Given the description of an element on the screen output the (x, y) to click on. 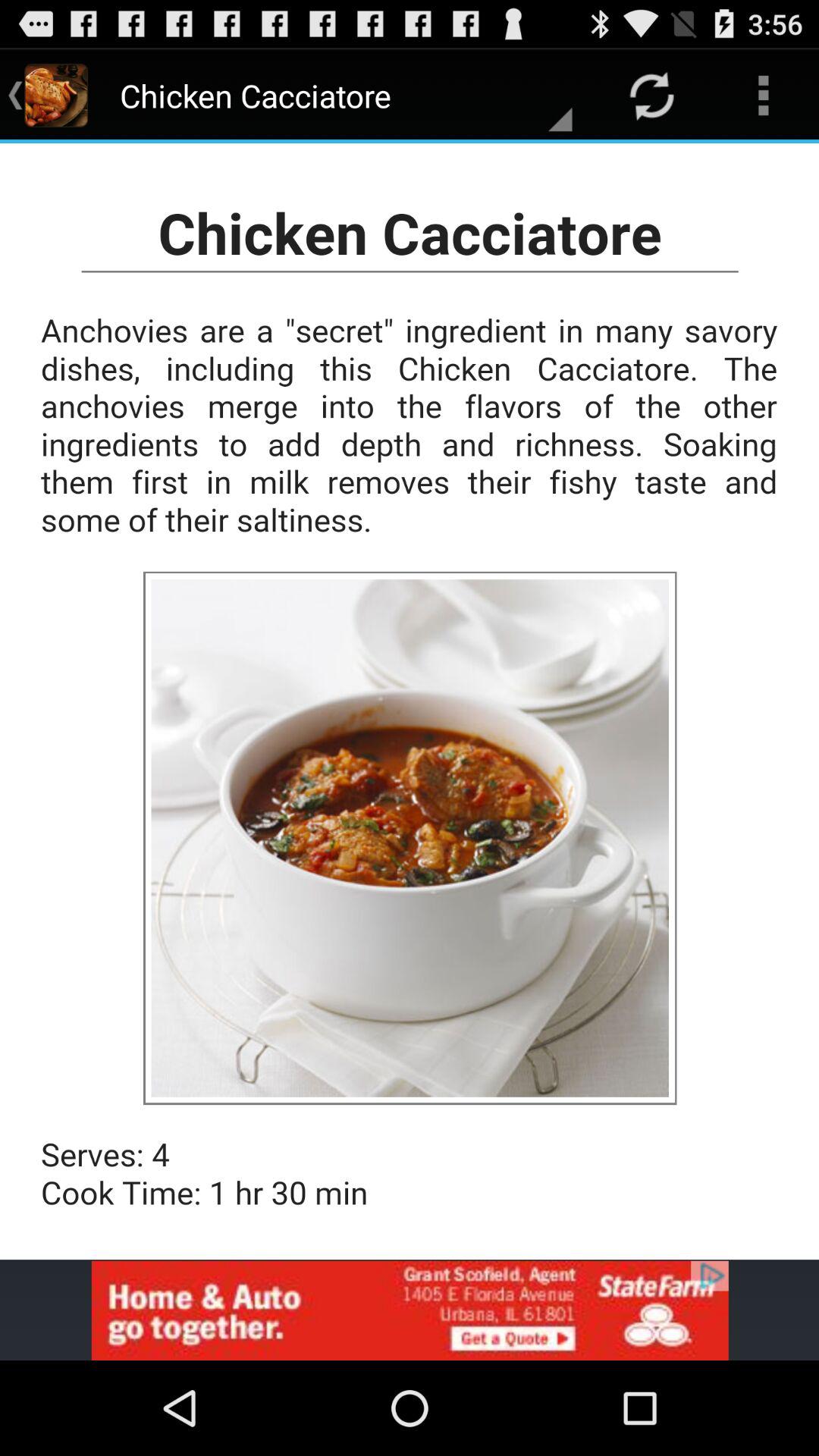
open advertisement (409, 1310)
